Given the description of an element on the screen output the (x, y) to click on. 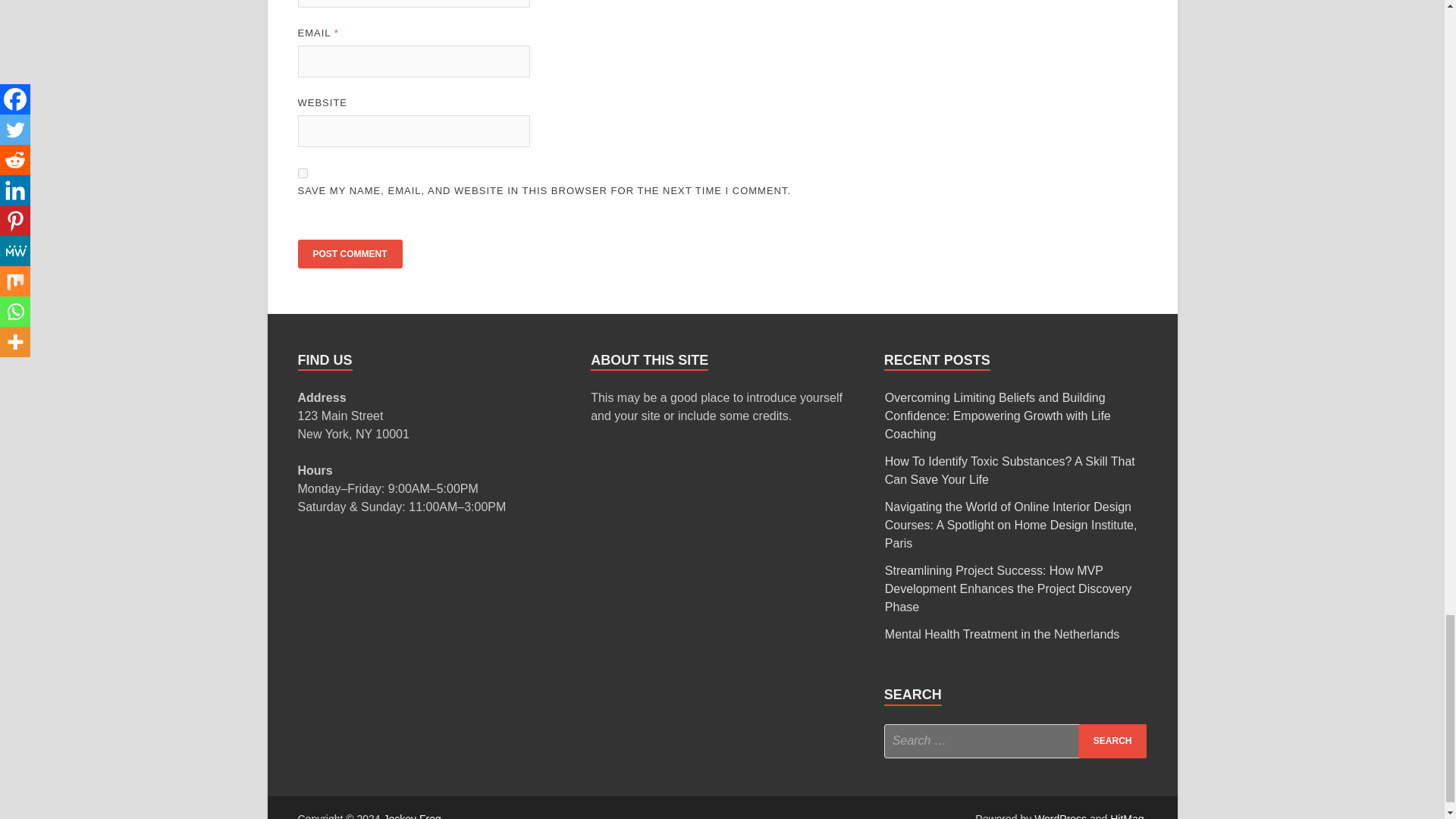
Post Comment (349, 253)
Search (1112, 740)
yes (302, 173)
Search (1112, 740)
